Given the description of an element on the screen output the (x, y) to click on. 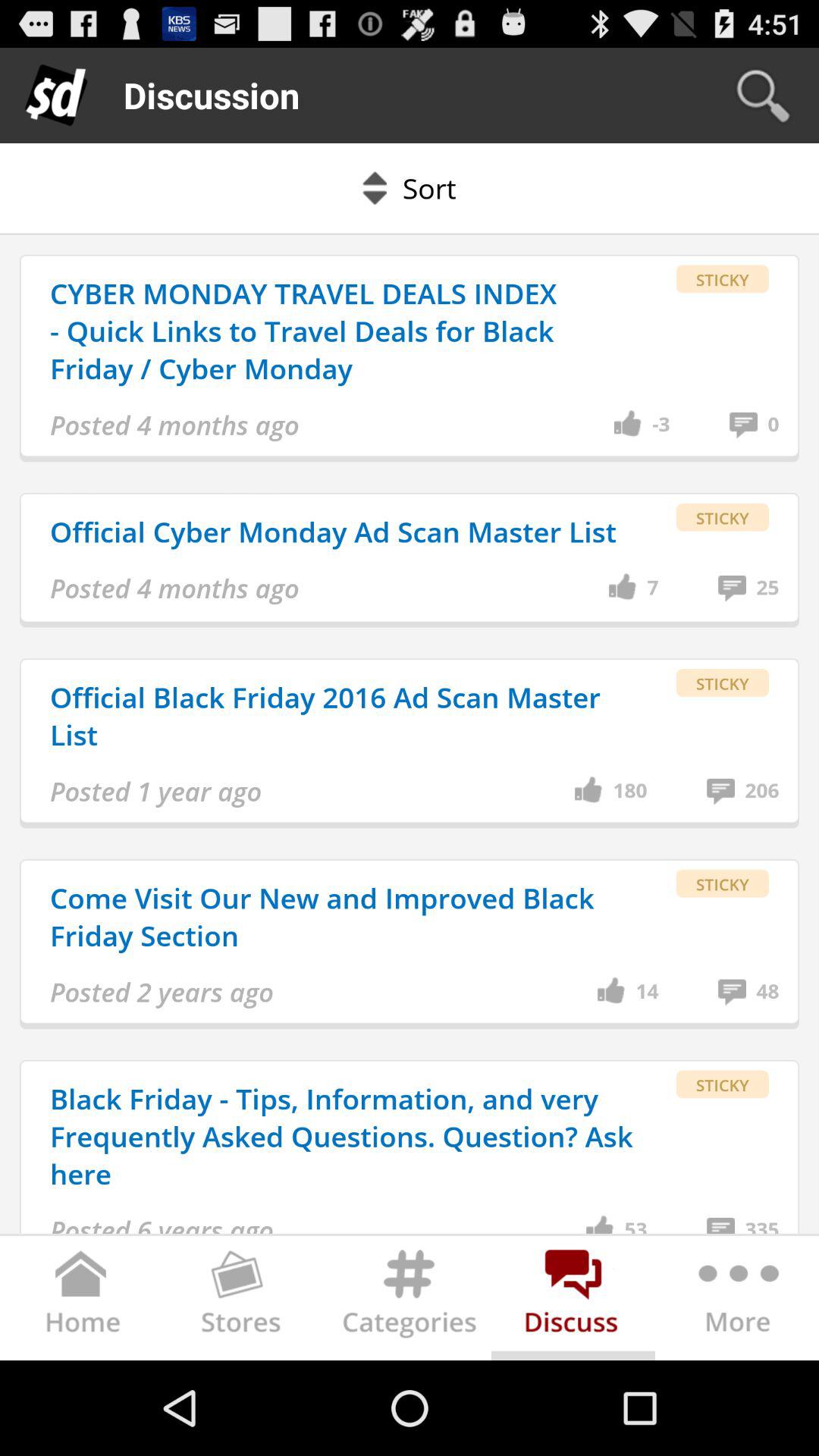
click the come visit our icon (344, 916)
